Given the description of an element on the screen output the (x, y) to click on. 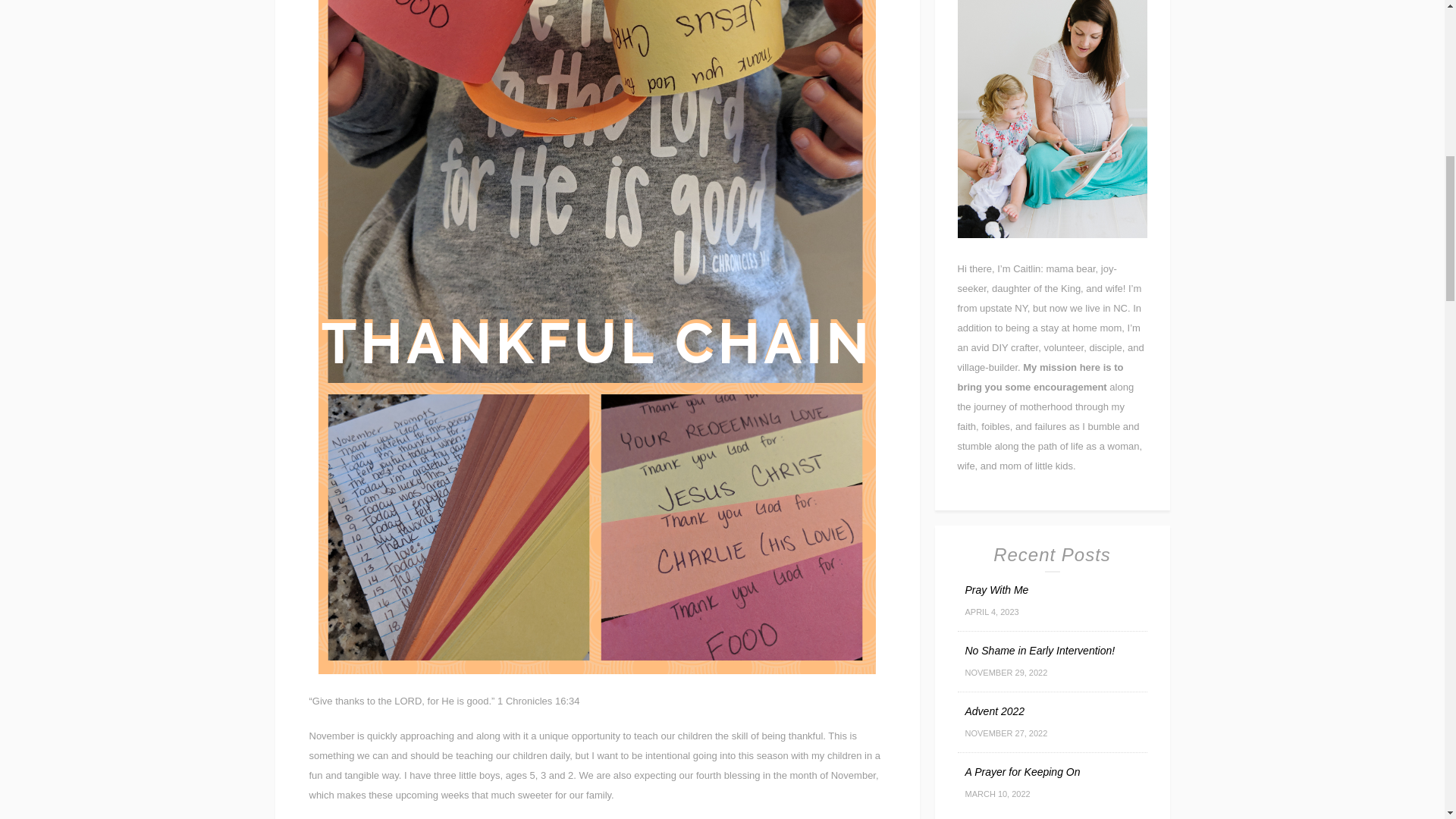
Permanent Link to Advent 2022 (994, 711)
Permanent Link to A Prayer for Keeping On (1021, 771)
Permanent Link to Pray With Me (995, 589)
Permanent Link to No Shame in Early Intervention! (1039, 650)
